Given the description of an element on the screen output the (x, y) to click on. 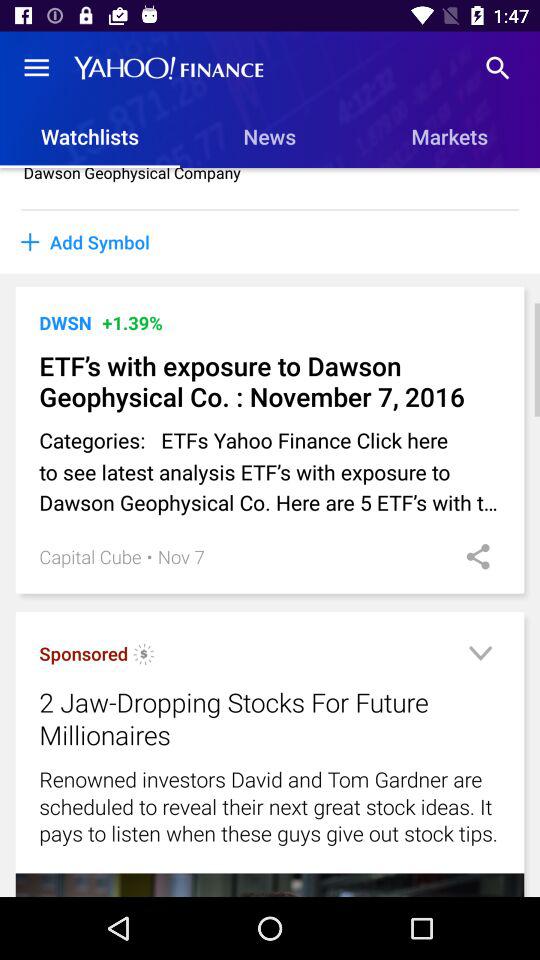
choose item below the add symbol item (273, 285)
